Given the description of an element on the screen output the (x, y) to click on. 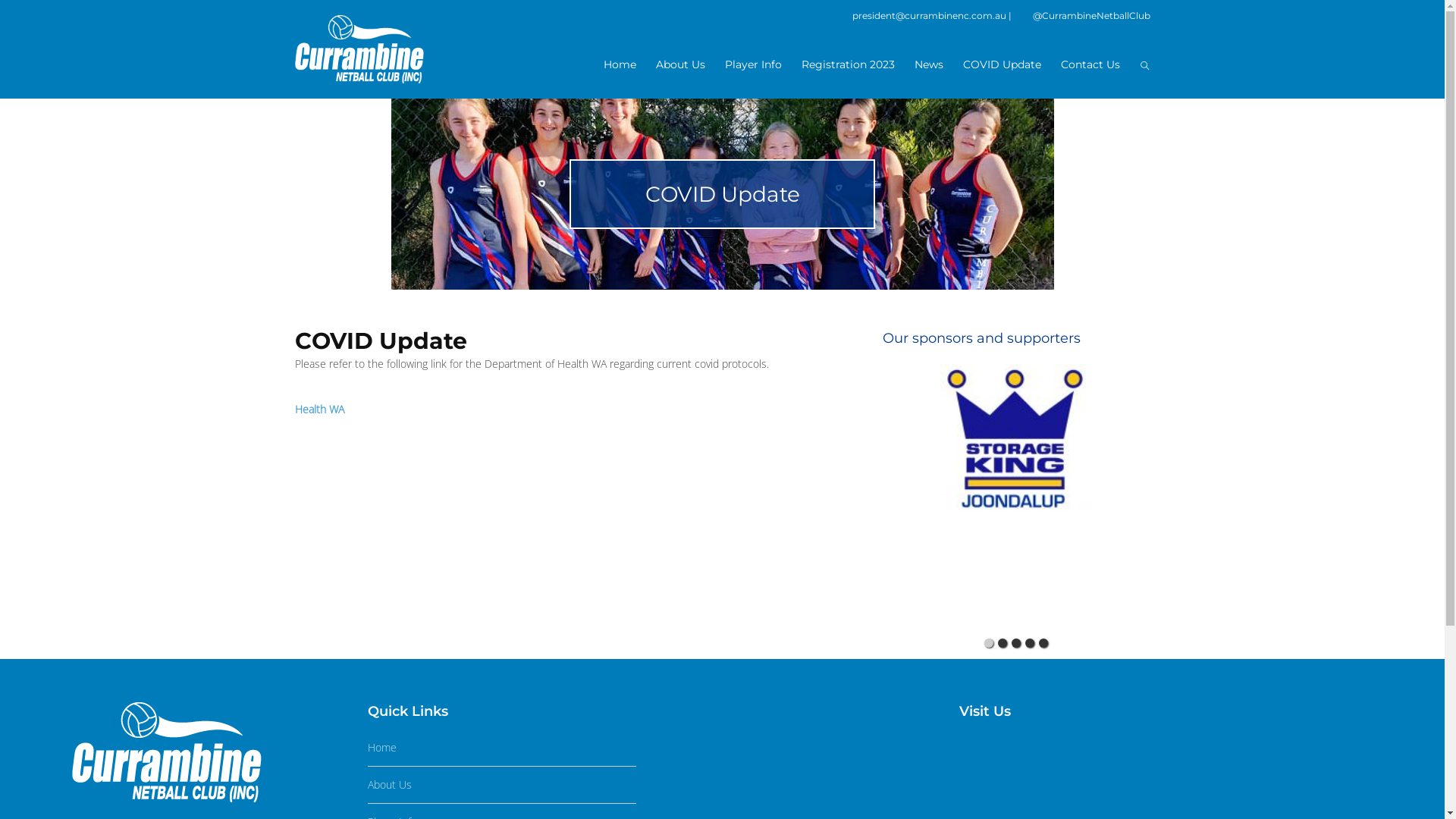
Contact Us Element type: text (1089, 64)
Player Info Element type: text (752, 64)
About Us Element type: text (679, 64)
@CurrambineNetballClub Element type: text (1081, 15)
Home Element type: text (381, 747)
COVID Update Element type: text (1002, 64)
Health WA Element type: text (318, 408)
Home Element type: text (619, 64)
News Element type: text (928, 64)
About Us Element type: text (389, 784)
president@currambinenc.com.au Element type: text (929, 15)
Registration 2023 Element type: text (847, 64)
